Given the description of an element on the screen output the (x, y) to click on. 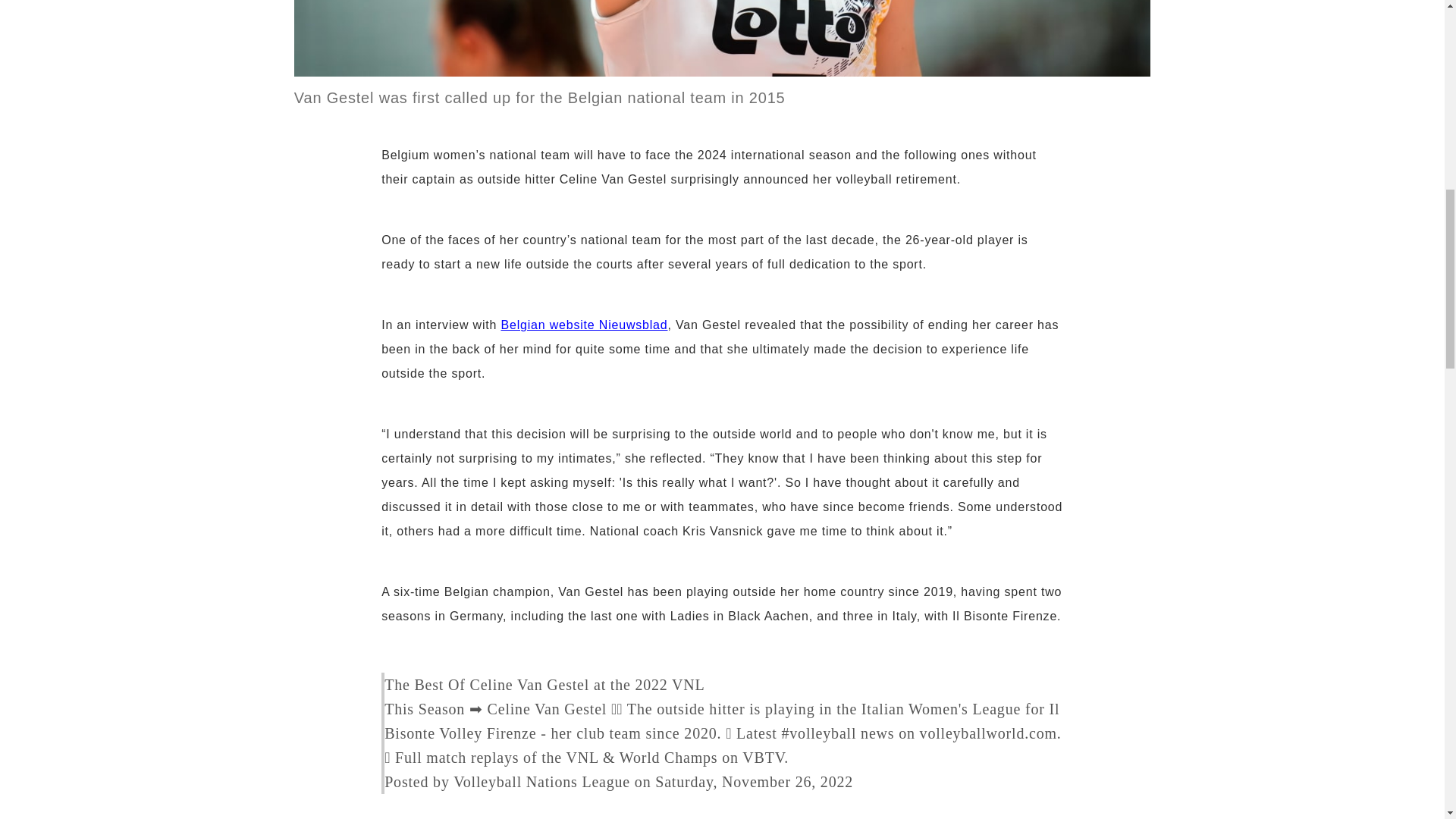
Belgian website Nieuwsblad (583, 324)
Volleyball Nations League (541, 781)
The Best Of Celine Van Gestel at the 2022 VNL (544, 684)
